Given the description of an element on the screen output the (x, y) to click on. 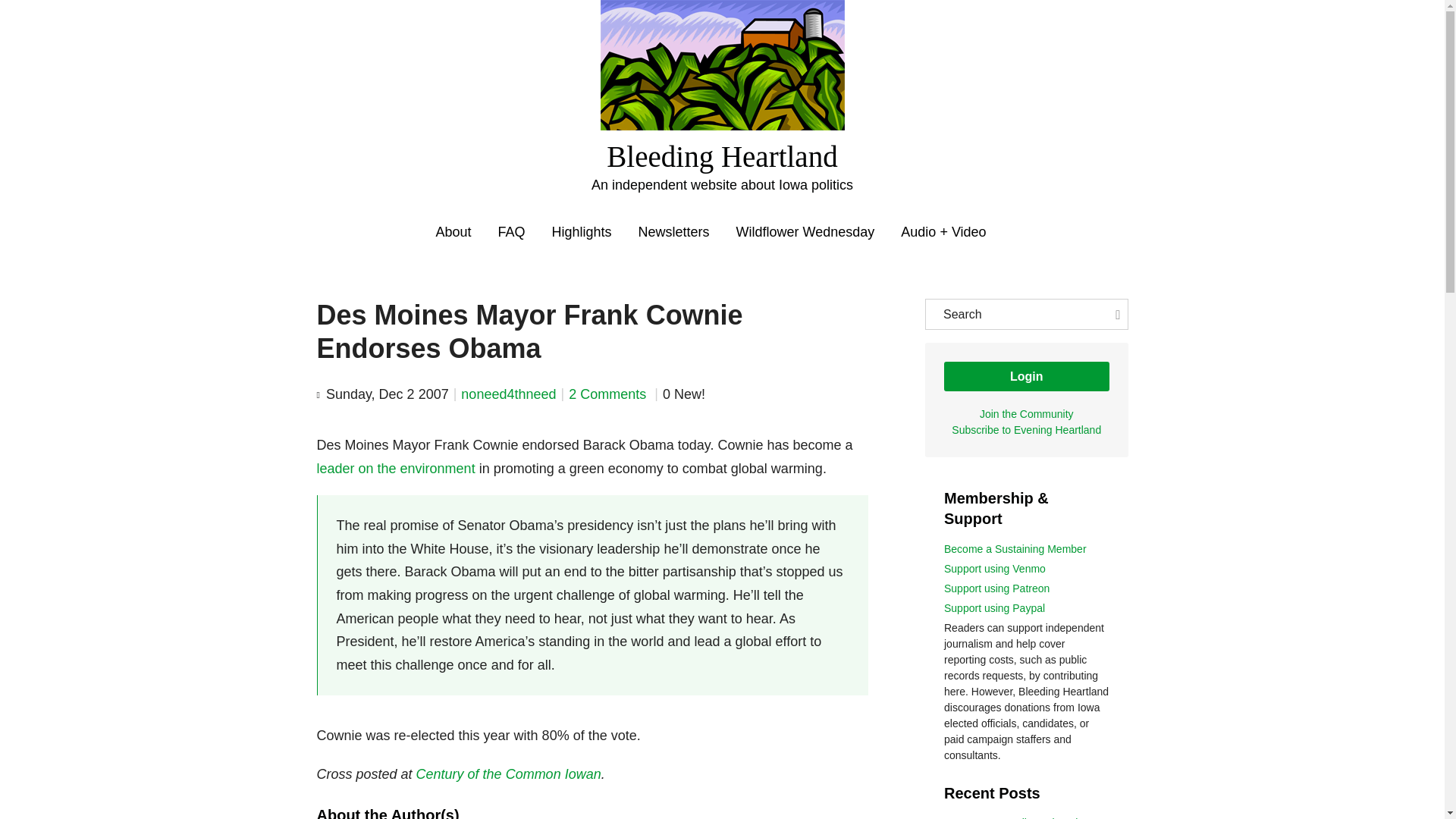
Posts by noneed4thneed (508, 394)
leader on the environment (396, 468)
2 Comments (609, 394)
Support using Paypal (994, 607)
Support using Patreon (996, 588)
noneed4thneed (508, 394)
Libertarian Thomas Laehn exploring U.S. Senate bid in Iowa (1025, 817)
Become a Sustaining Member (1014, 548)
Subscribe to Evening Heartland (1026, 429)
